Given the description of an element on the screen output the (x, y) to click on. 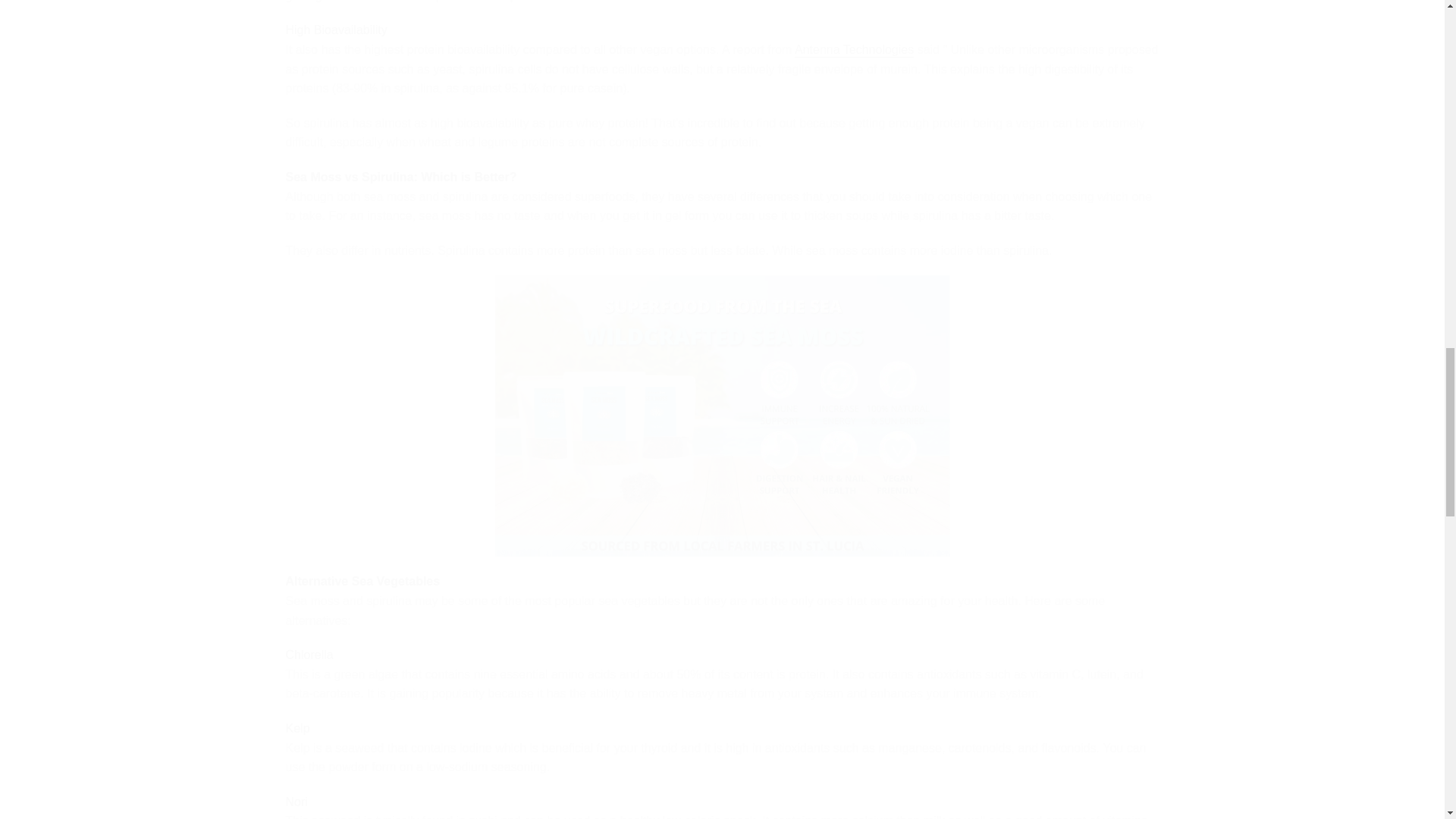
Antenna Technologies (854, 50)
Spirulina Protein Research Antenna Technologies (854, 50)
